Given the description of an element on the screen output the (x, y) to click on. 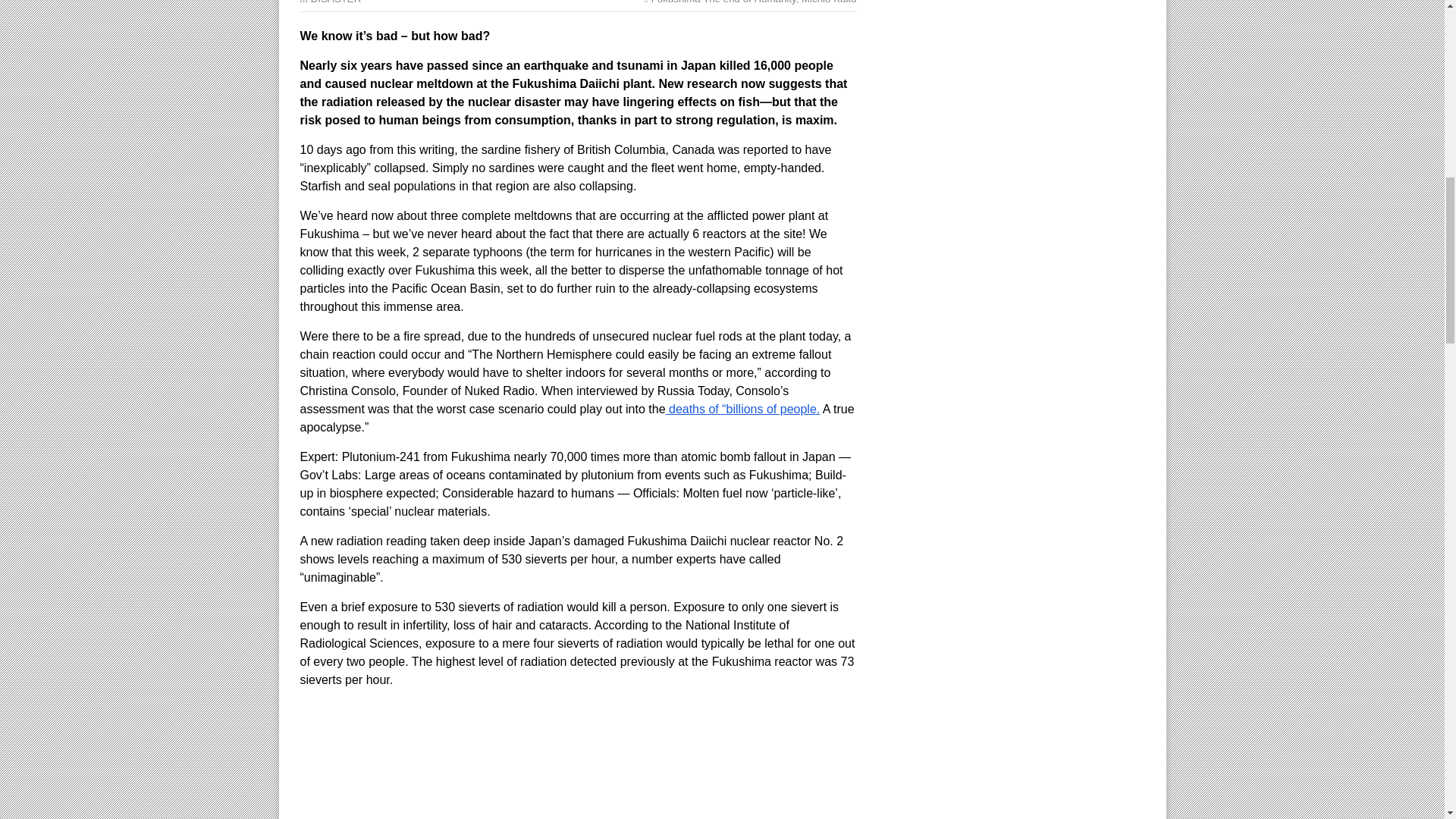
Michio Kaku (829, 2)
Fukushima The end of Humanity (723, 2)
DISASTER (336, 2)
